Given the description of an element on the screen output the (x, y) to click on. 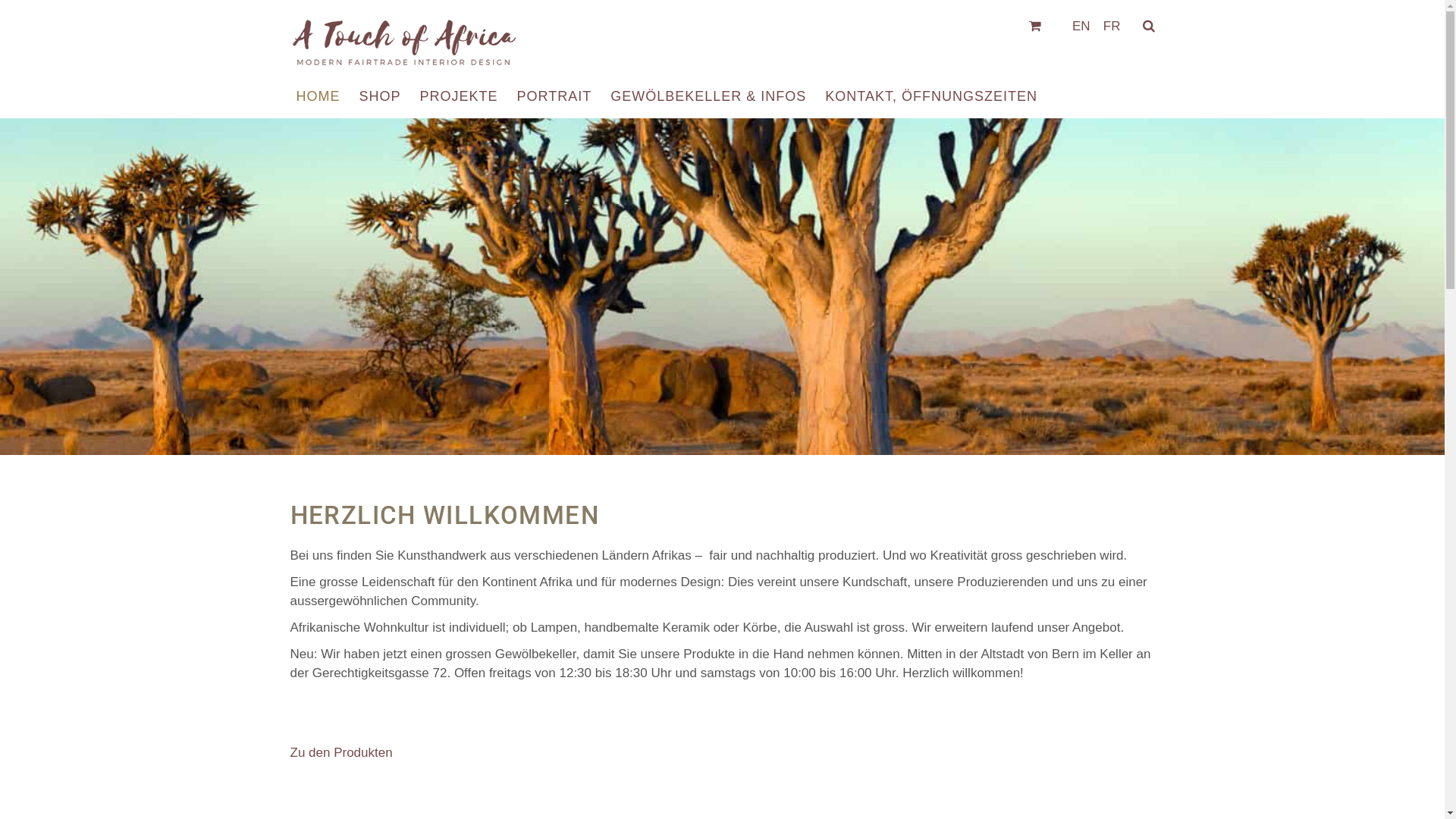
PORTRAIT Element type: text (554, 96)
EN Element type: text (1078, 26)
PROJEKTE Element type: text (459, 96)
SHOP Element type: text (380, 96)
FR Element type: text (1109, 26)
Zu den Produkten Element type: text (340, 752)
HOME Element type: text (317, 96)
